Given the description of an element on the screen output the (x, y) to click on. 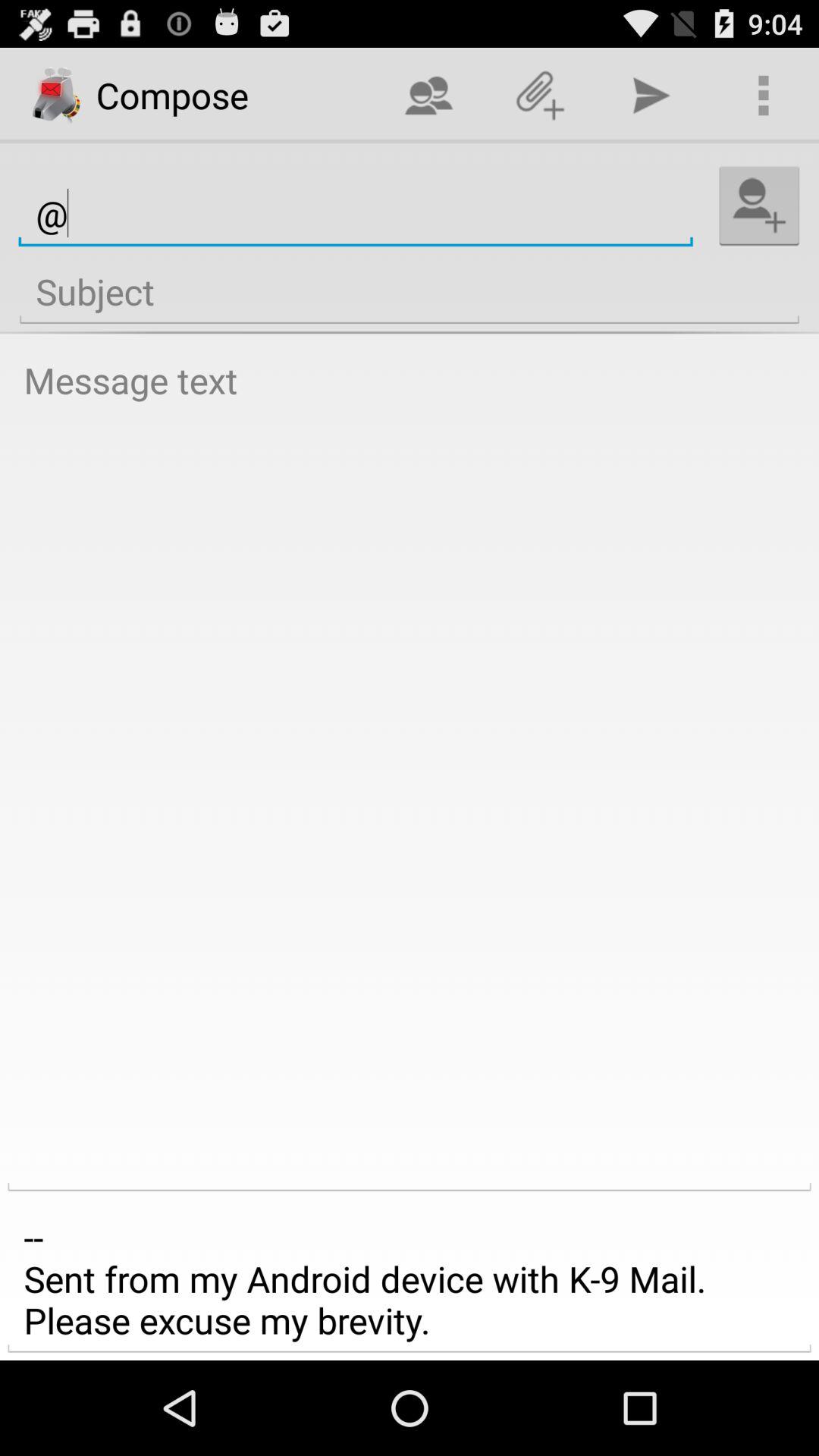
type subject (409, 292)
